Given the description of an element on the screen output the (x, y) to click on. 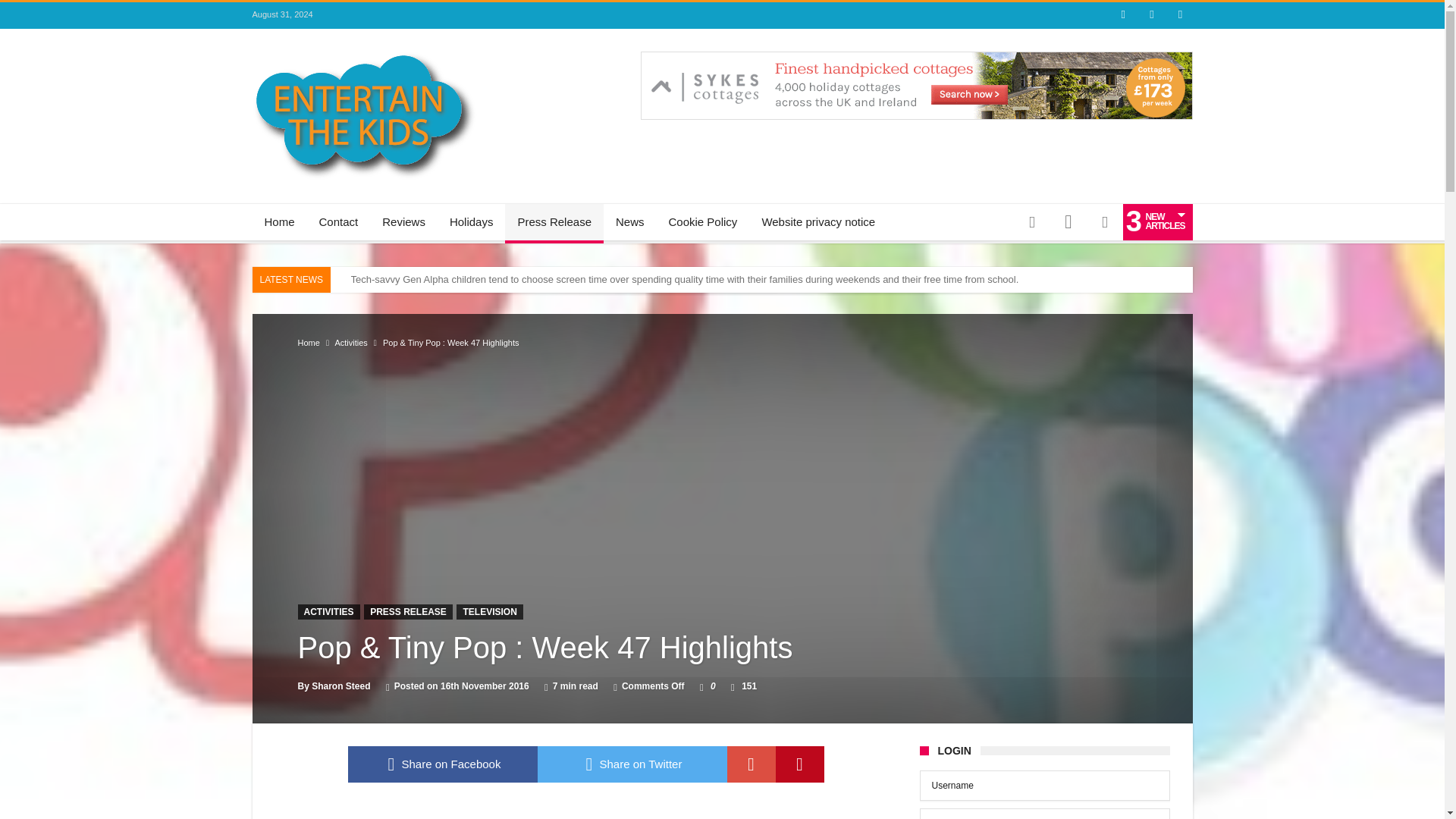
Home (307, 342)
Password (1043, 813)
Cookie Policy (702, 221)
Sharon Steed (340, 686)
News (630, 221)
Website privacy notice (817, 221)
I like this article (701, 685)
TELEVISION (489, 611)
Reviews (403, 221)
Twitter (1151, 15)
